Given the description of an element on the screen output the (x, y) to click on. 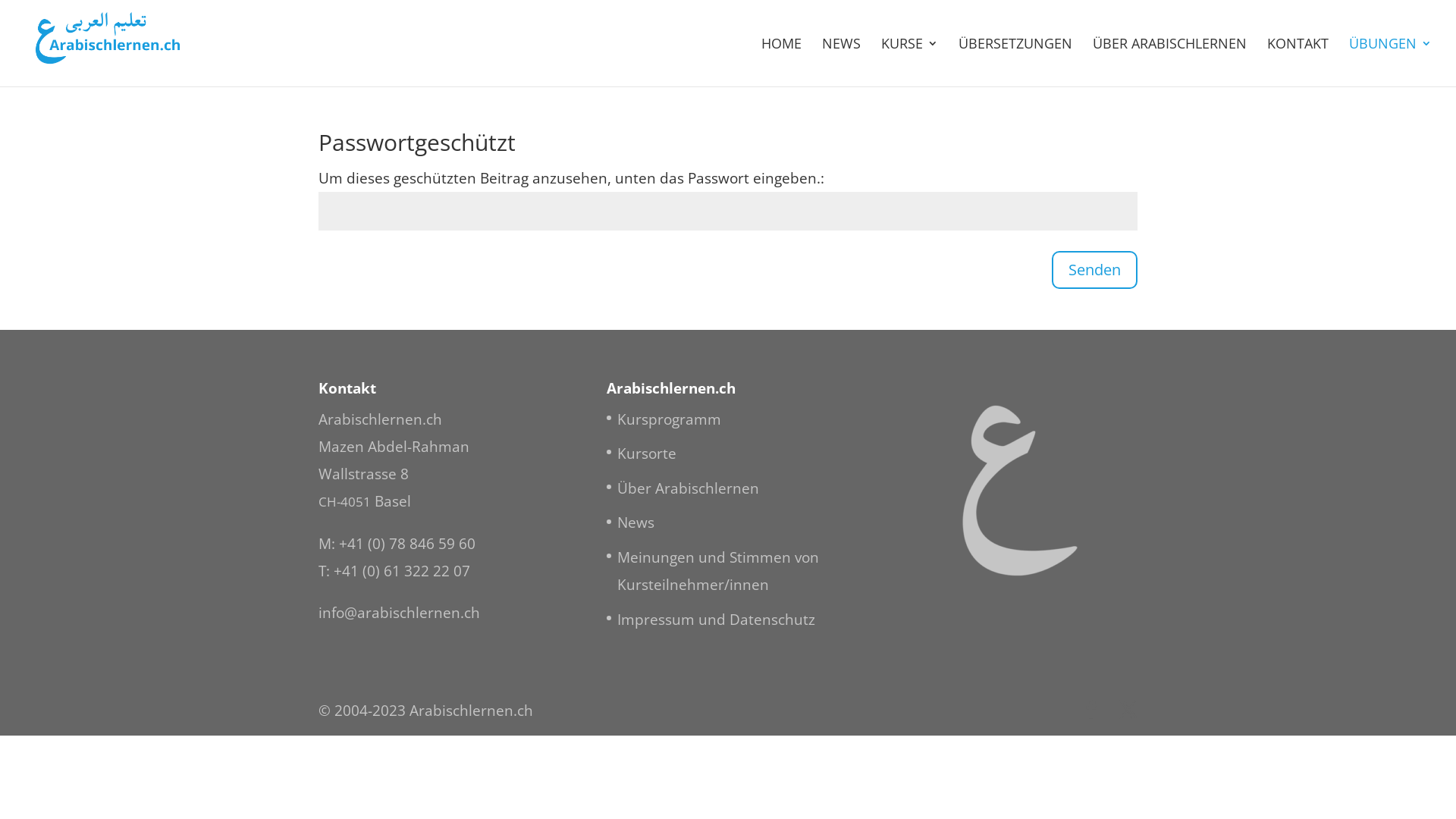
News Element type: text (635, 522)
KONTAKT Element type: text (1297, 61)
KURSE Element type: text (909, 61)
Impressum und Datenschutz Element type: text (716, 619)
Kursorte Element type: text (646, 453)
Meinungen und Stimmen von Kursteilnehmer/innen Element type: text (718, 570)
NEWS Element type: text (841, 61)
info@arabischlernen.ch Element type: text (399, 612)
HOME Element type: text (781, 61)
Senden Element type: text (1094, 269)
